Given the description of an element on the screen output the (x, y) to click on. 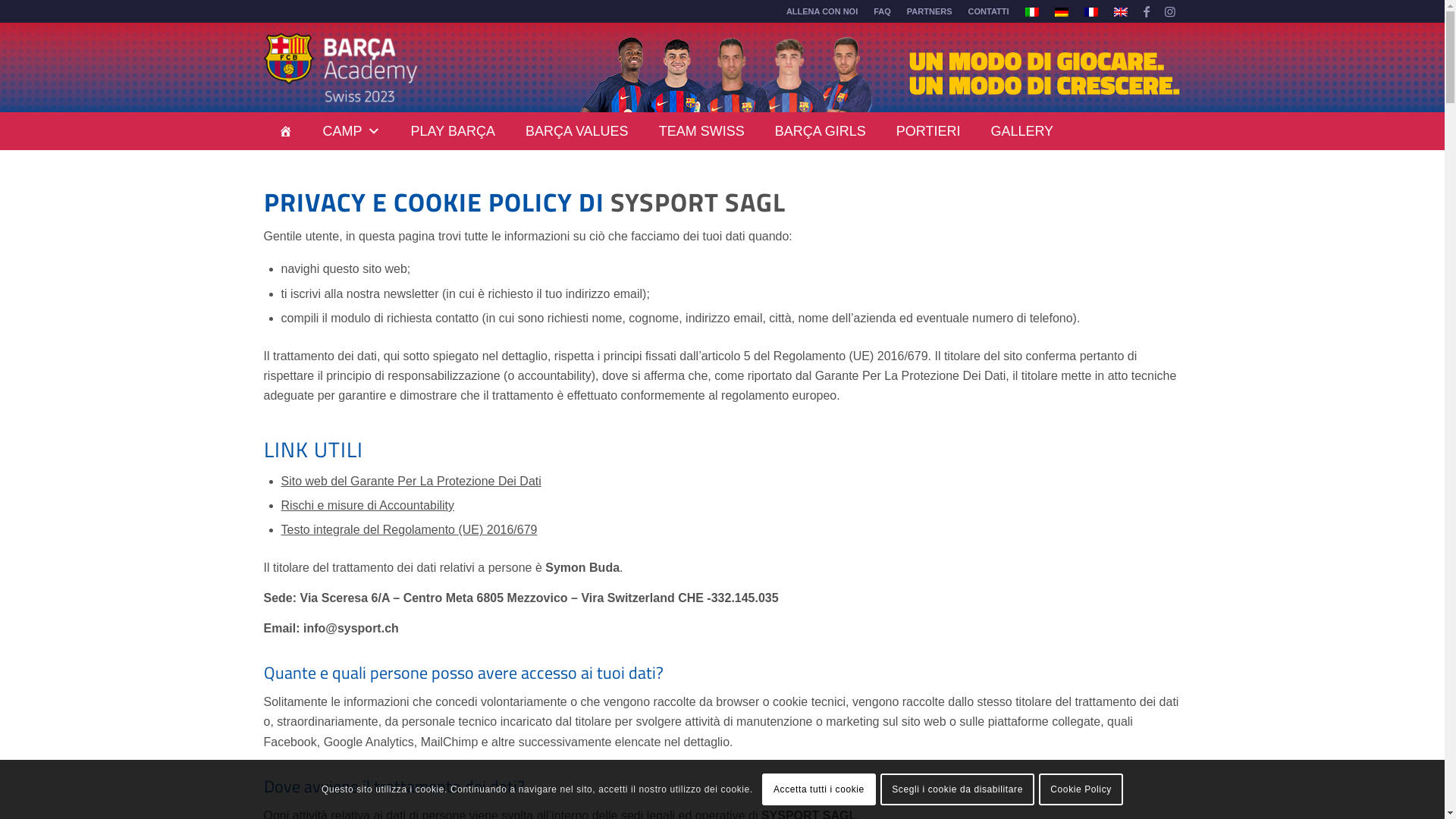
Instagram Element type: hover (1169, 11)
CONTATTI Element type: text (988, 11)
FAQ Element type: text (882, 11)
ALLENA CON NOI Element type: text (821, 11)
CAMP Element type: text (351, 131)
Cookie Policy Element type: text (1080, 789)
Facebook Element type: hover (1146, 11)
Scegli i cookie da disabilitare Element type: text (957, 789)
PORTIERI Element type: text (928, 131)
GALLERY Element type: text (1021, 131)
Accetta tutti i cookie Element type: text (818, 789)
Rischi e misure di Accountability Element type: text (367, 504)
PARTNERS Element type: text (929, 11)
info@sysport.ch Element type: text (350, 627)
Sito web del Garante Per La Protezione Dei Dati Element type: text (410, 480)
TEAM SWISS Element type: text (701, 131)
Testo integrale del Regolamento (UE) 2016/679 Element type: text (408, 529)
